Given the description of an element on the screen output the (x, y) to click on. 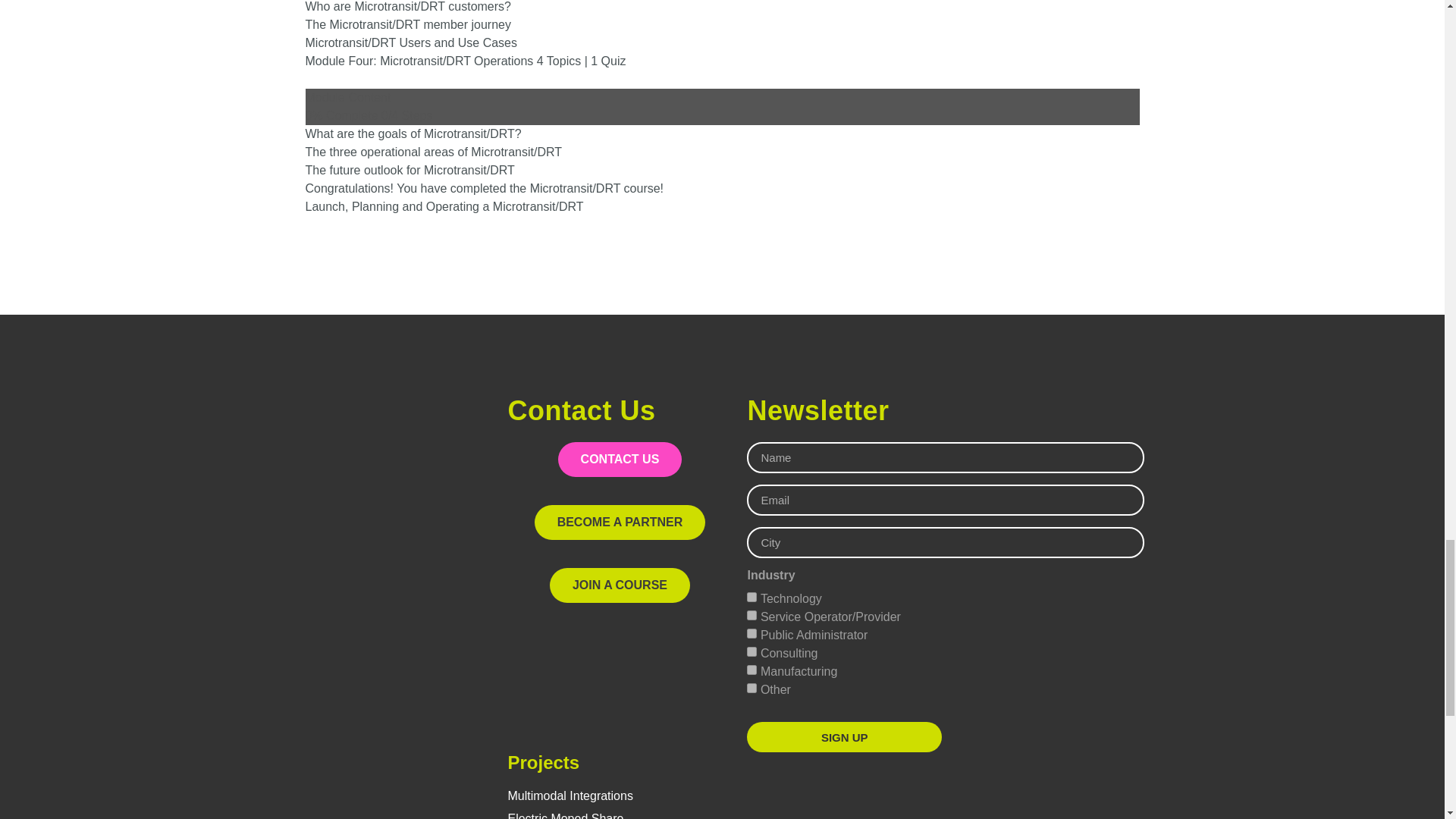
Technology (751, 596)
Manufacturing (751, 669)
Public Administrator (751, 633)
Other (751, 687)
Consulting (751, 651)
